Given the description of an element on the screen output the (x, y) to click on. 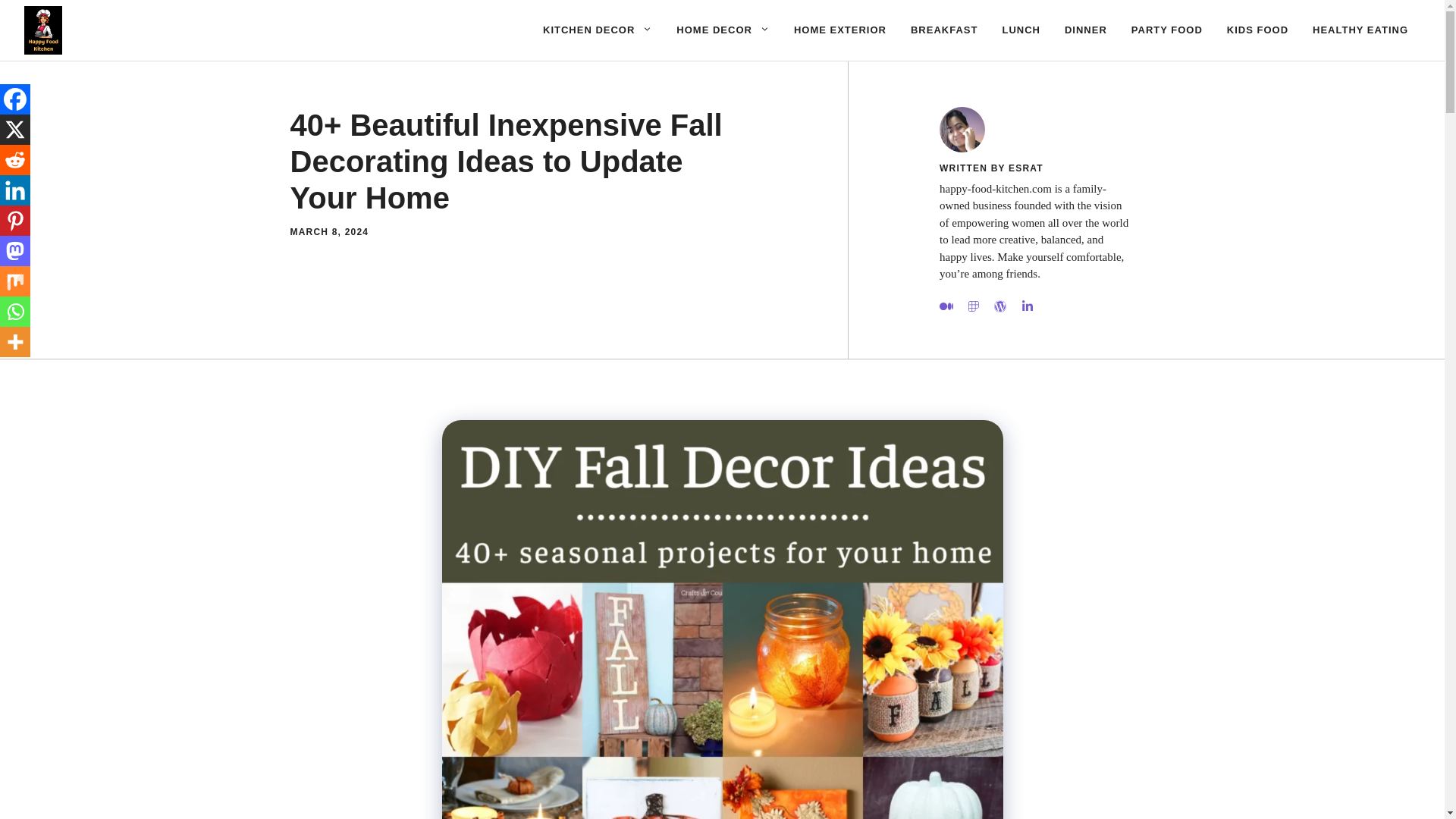
HOME DECOR (722, 30)
BREAKFAST (944, 30)
LUNCH (1021, 30)
PARTY FOOD (1166, 30)
KIDS FOOD (1257, 30)
HEALTHY EATING (1360, 30)
KITCHEN DECOR (597, 30)
Facebook (15, 99)
DINNER (1085, 30)
X (15, 129)
